Given the description of an element on the screen output the (x, y) to click on. 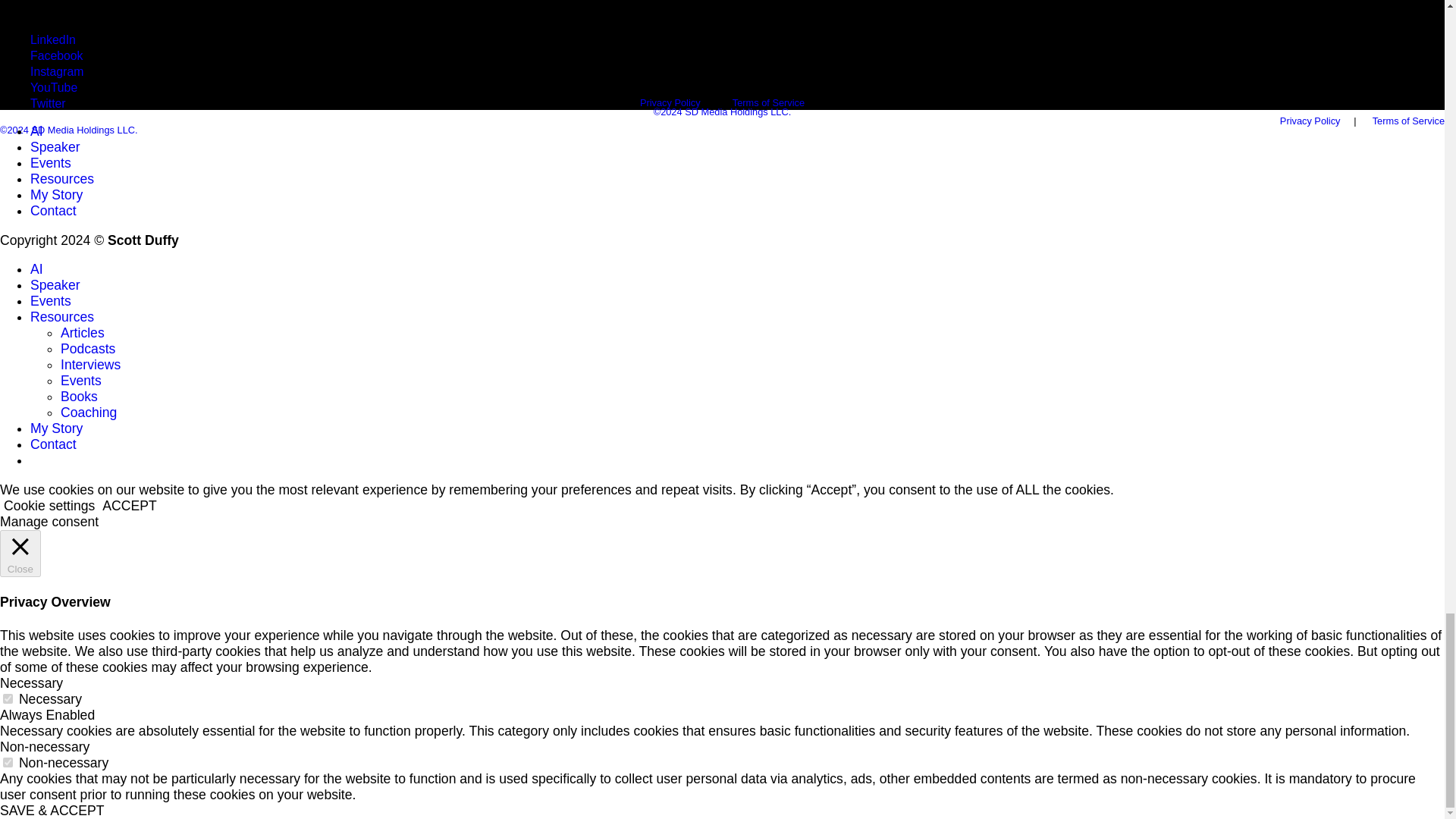
YouTube (53, 87)
LinkedIn (52, 38)
Privacy Policy (1309, 120)
on (7, 698)
on (7, 762)
Twitter (47, 102)
Facebook (56, 55)
Instagram (56, 70)
